Given the description of an element on the screen output the (x, y) to click on. 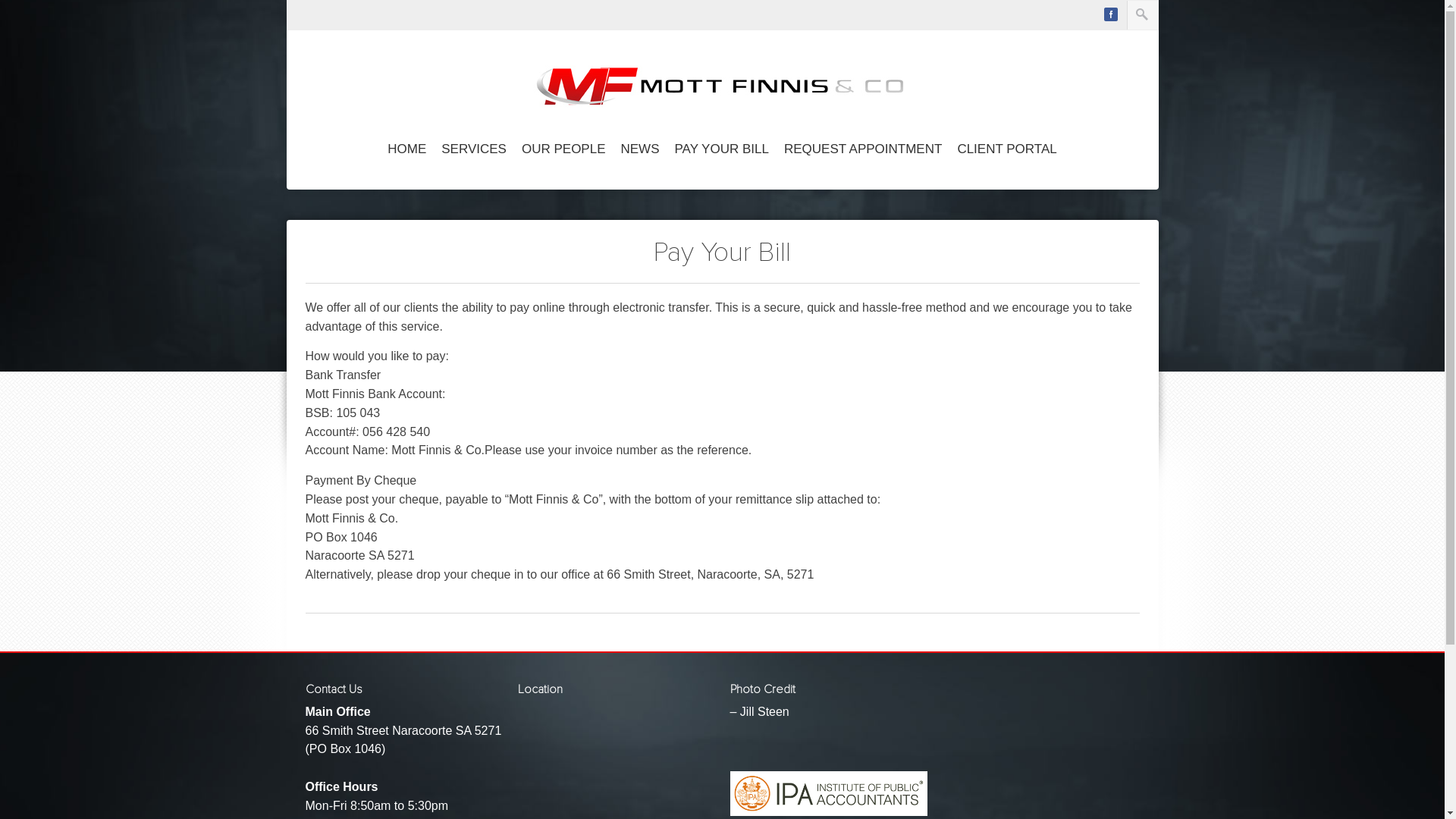
CLIENT PORTAL Element type: text (1006, 149)
Mott Finnis & Co Element type: hover (721, 90)
Facebook Element type: hover (1110, 14)
Search Element type: text (21, 7)
NEWS Element type: text (639, 149)
OUR PEOPLE Element type: text (563, 149)
HOME Element type: text (406, 149)
REQUEST APPOINTMENT Element type: text (862, 149)
PAY YOUR BILL Element type: text (721, 149)
SERVICES Element type: text (473, 149)
